Given the description of an element on the screen output the (x, y) to click on. 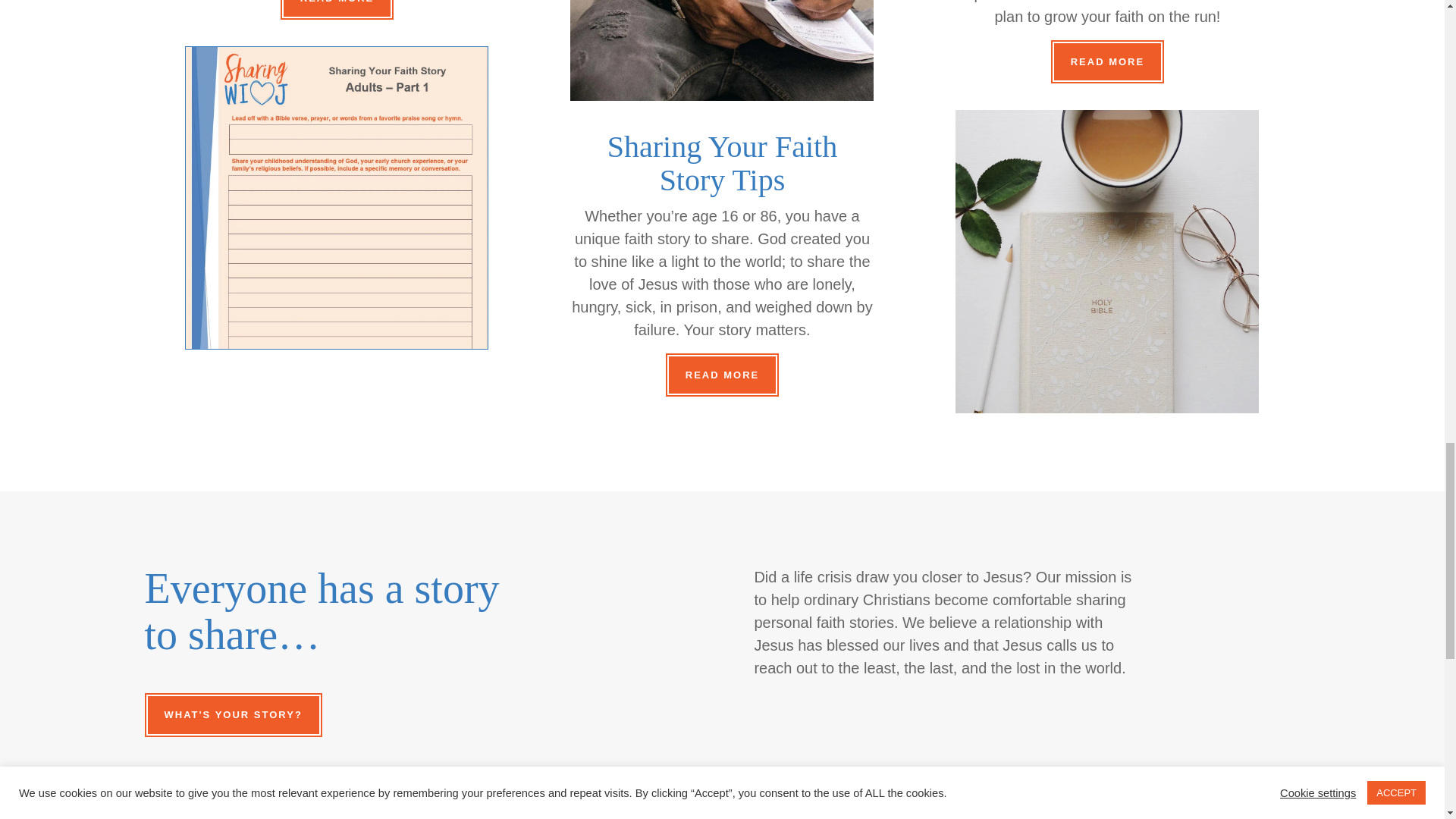
adultworksheetthumb (336, 197)
